Given the description of an element on the screen output the (x, y) to click on. 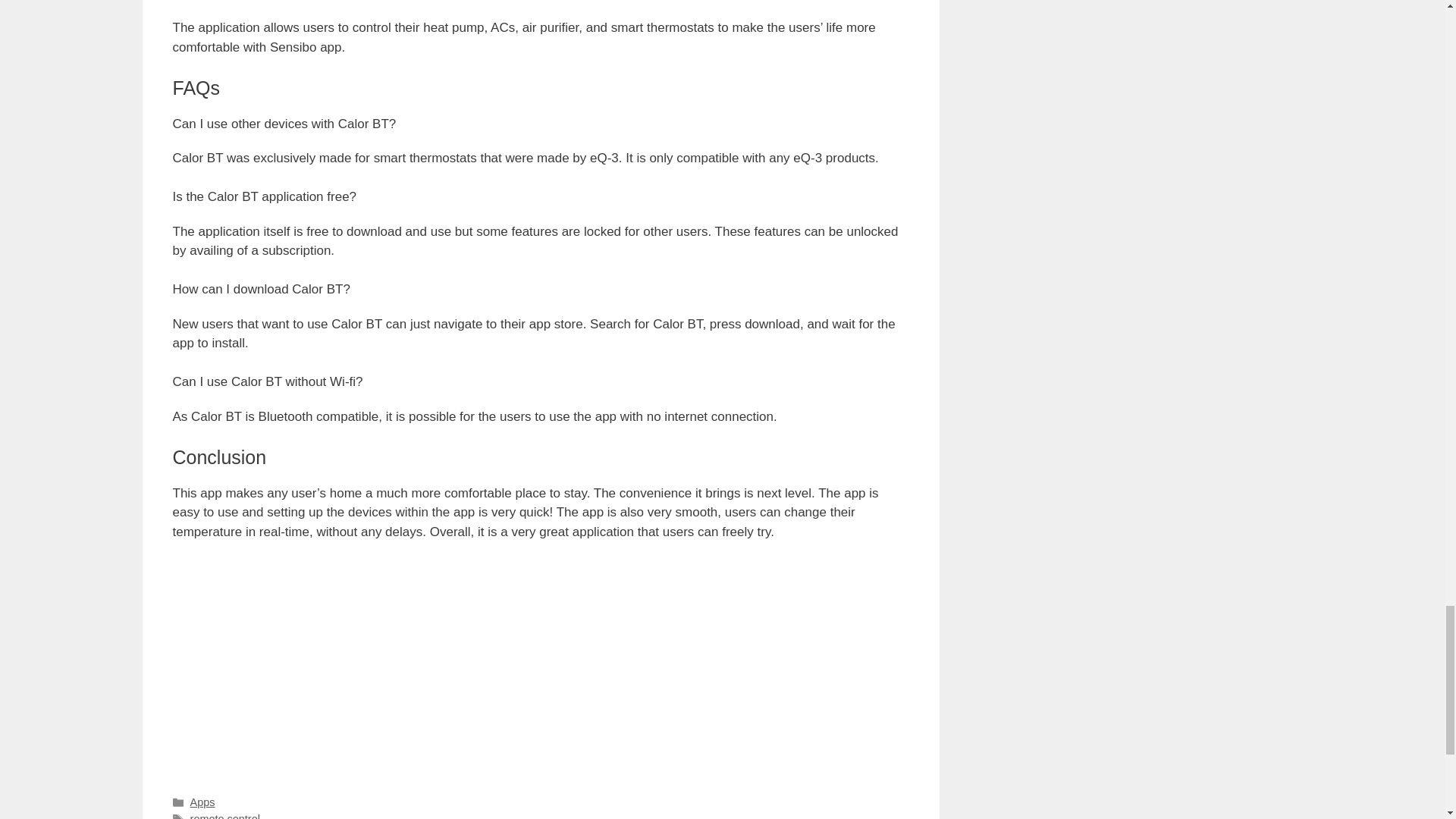
remote control (225, 816)
Apps (202, 802)
